Given the description of an element on the screen output the (x, y) to click on. 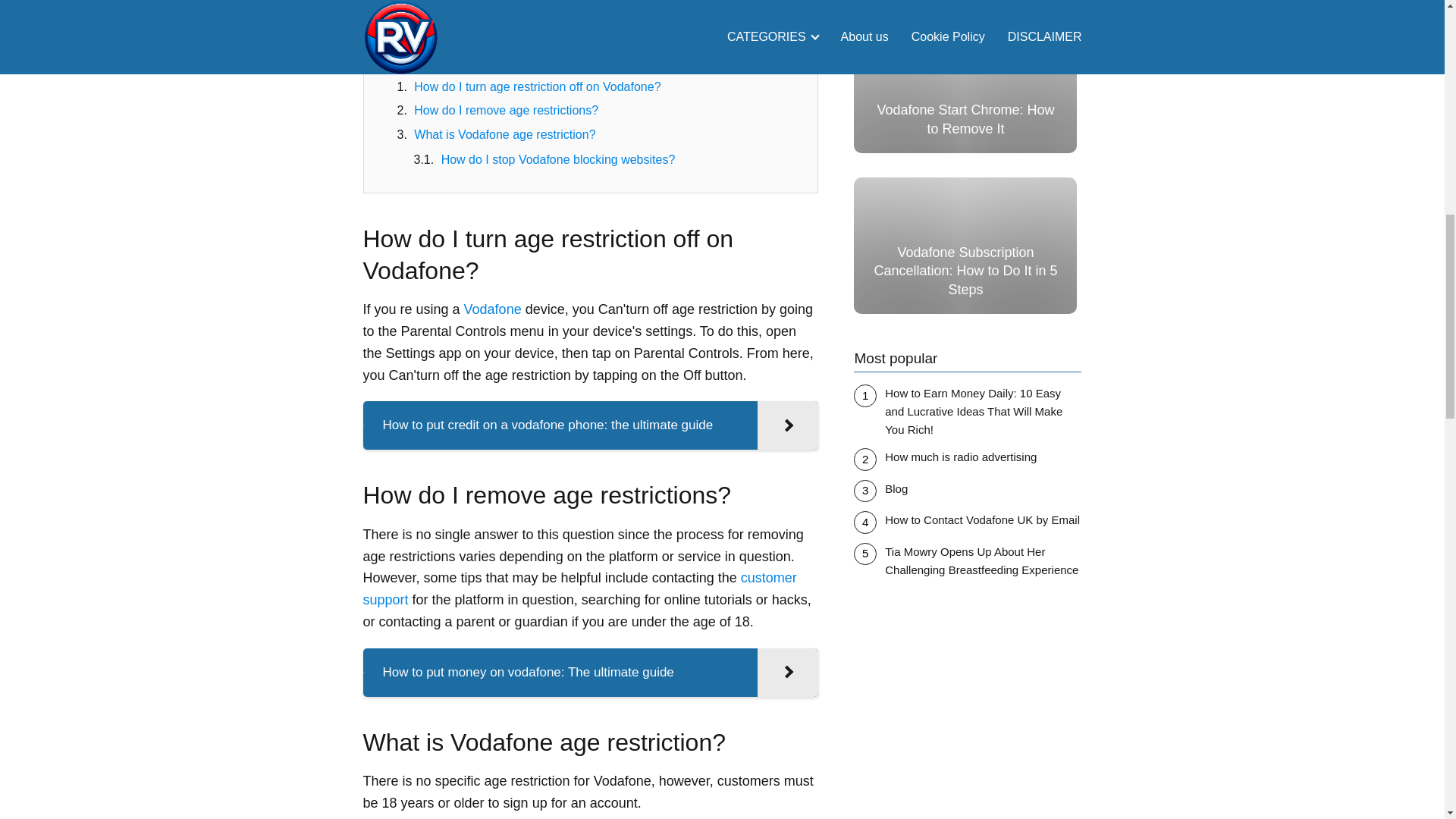
How do I remove age restrictions? (505, 110)
What is Vodafone age restriction? (504, 133)
How do I stop Vodafone blocking websites? (558, 159)
Vodafone (492, 309)
How do I turn age restriction off on Vodafone? (537, 86)
